Given the description of an element on the screen output the (x, y) to click on. 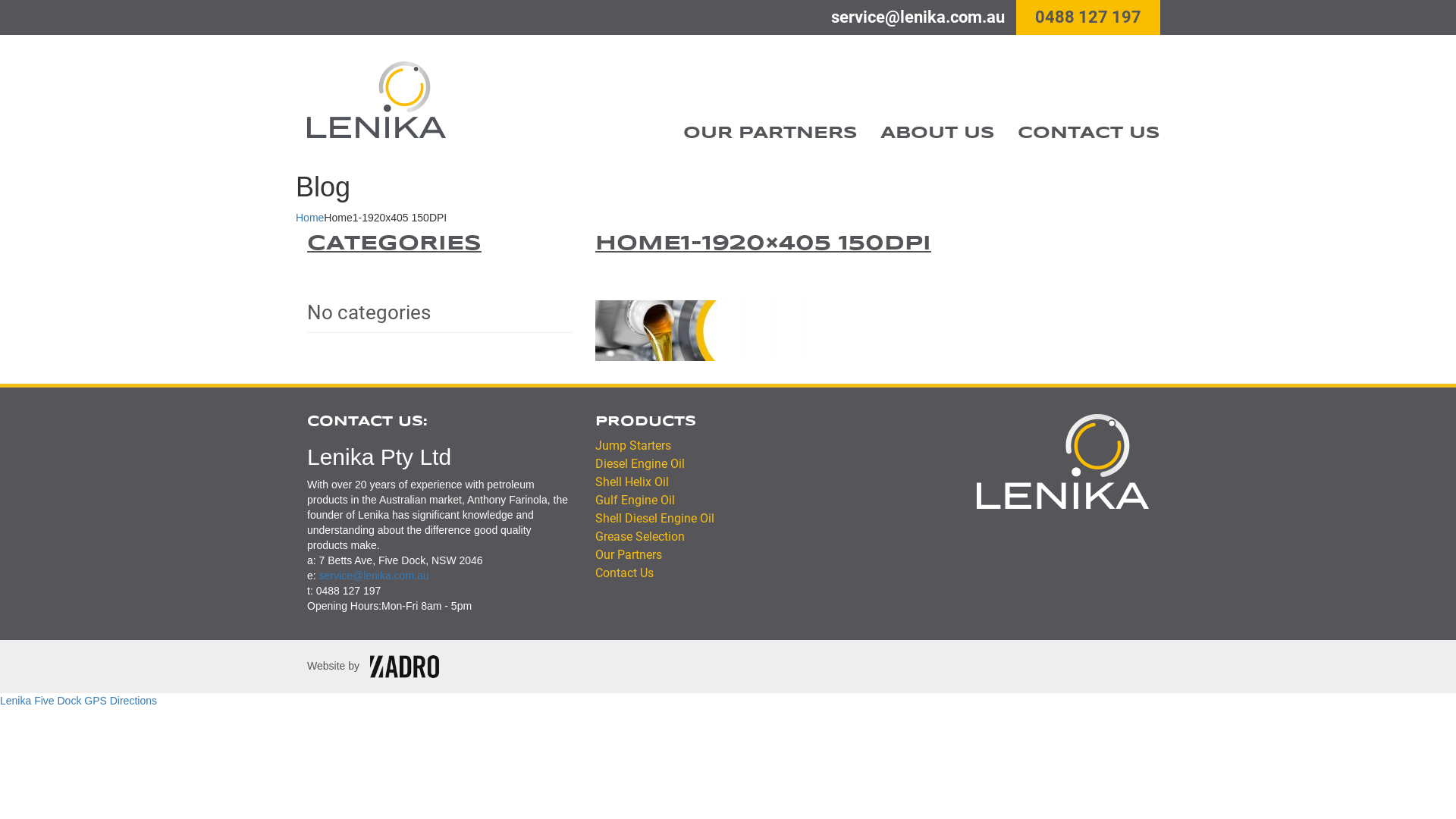
Home Element type: text (309, 217)
service@lenika.com.au Element type: text (374, 575)
service@lenika.com.au Element type: text (917, 16)
Lenika Five Dock GPS Directions Element type: text (78, 700)
Diesel Engine Oil Element type: text (639, 463)
Our Partners Element type: text (628, 554)
Grease Selection Element type: text (639, 536)
CONTACT US Element type: text (1088, 133)
0488 127 197 Element type: text (1088, 16)
Shell Diesel Engine Oil Element type: text (654, 518)
ABOUT US Element type: text (937, 133)
Shell Helix Oil Element type: text (631, 481)
OUR PARTNERS Element type: text (770, 133)
Gulf Engine Oil Element type: text (634, 499)
Jump Starters Element type: text (633, 445)
Contact Us Element type: text (624, 572)
